Given the description of an element on the screen output the (x, y) to click on. 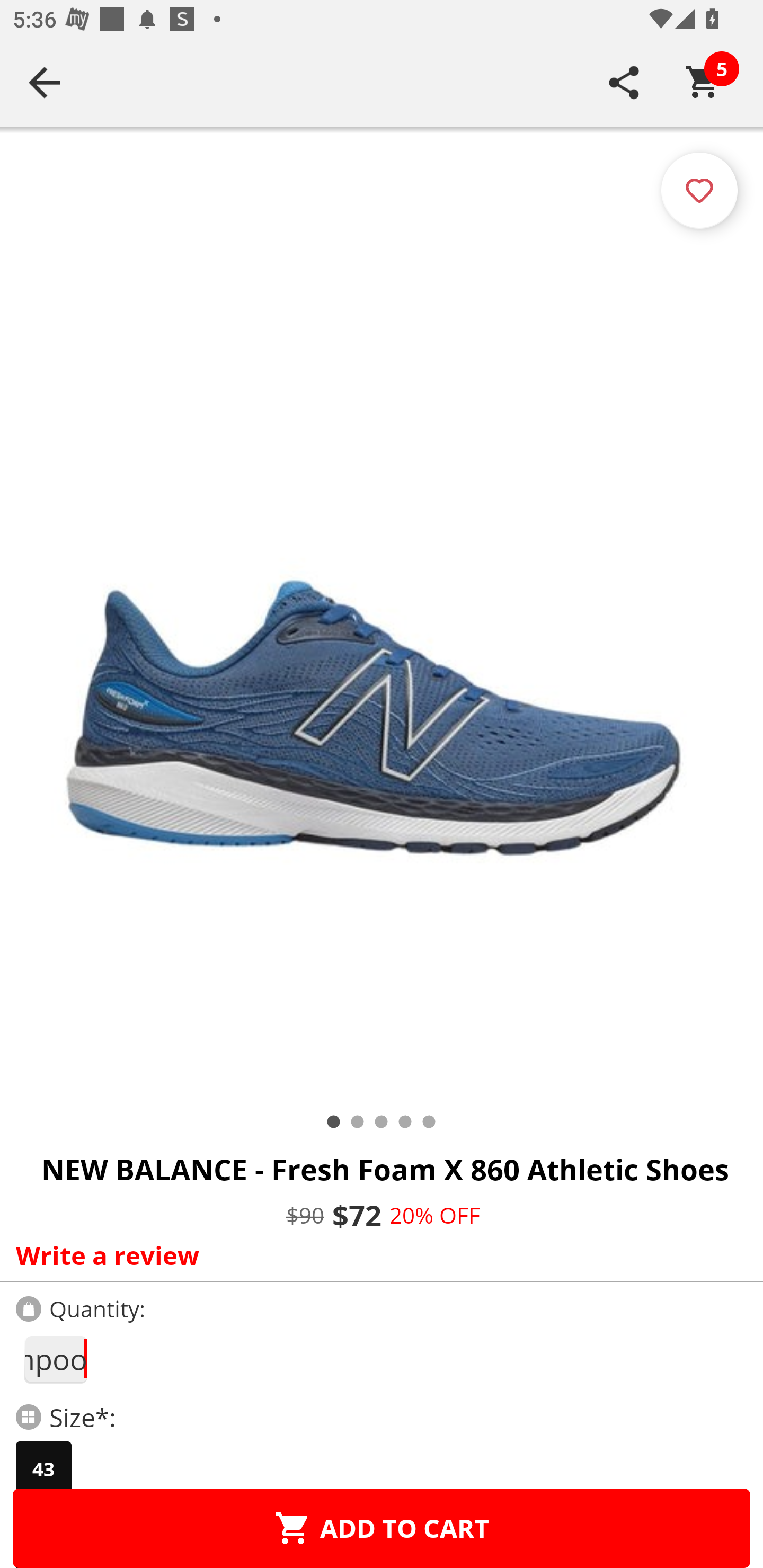
Navigate up (44, 82)
SHARE (623, 82)
Cart (703, 81)
Write a review (377, 1255)
1shampoo (55, 1358)
43 (43, 1468)
ADD TO CART (381, 1528)
